Given the description of an element on the screen output the (x, y) to click on. 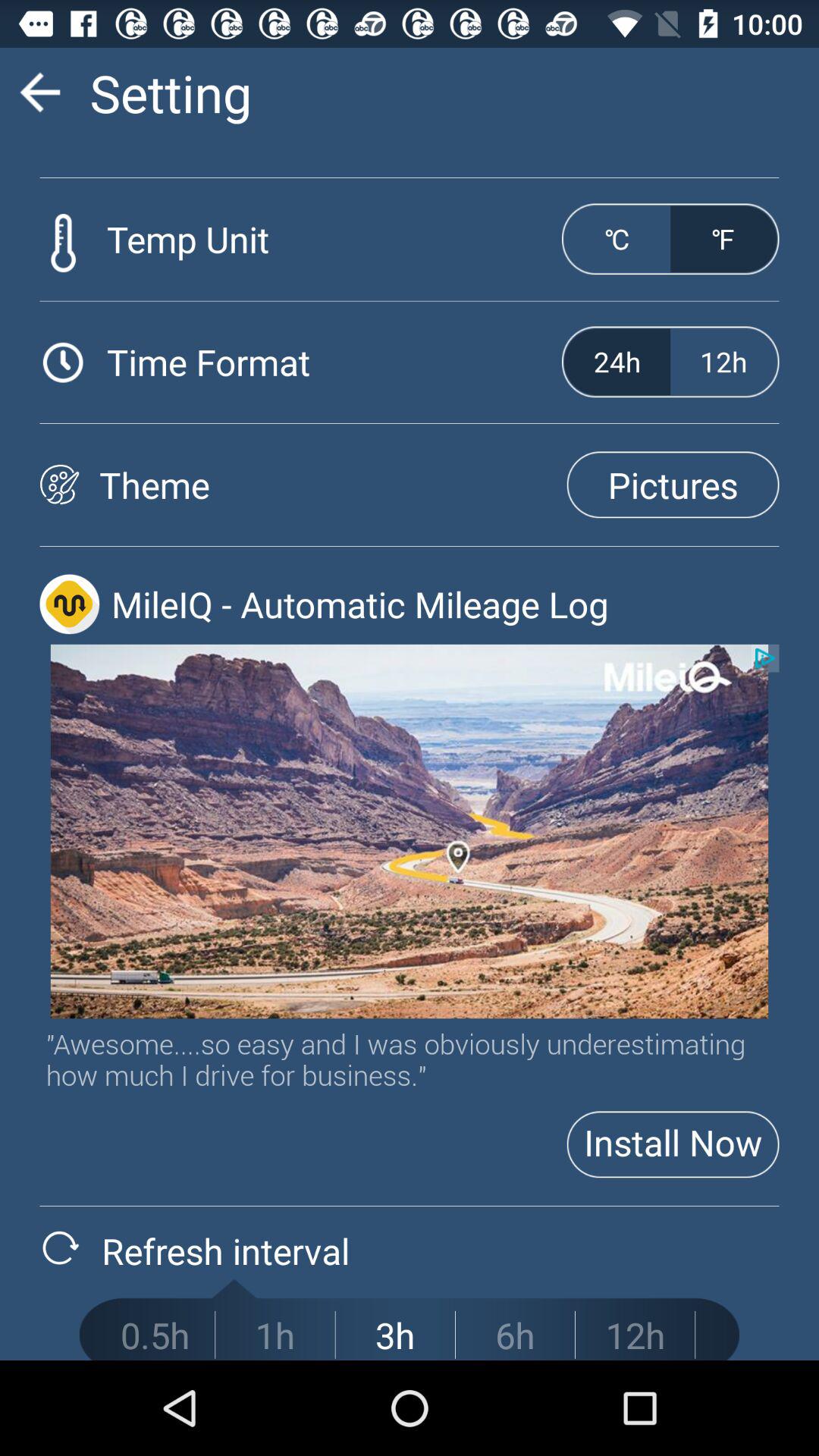
launch the item to the right of the 1h item (395, 1334)
